Given the description of an element on the screen output the (x, y) to click on. 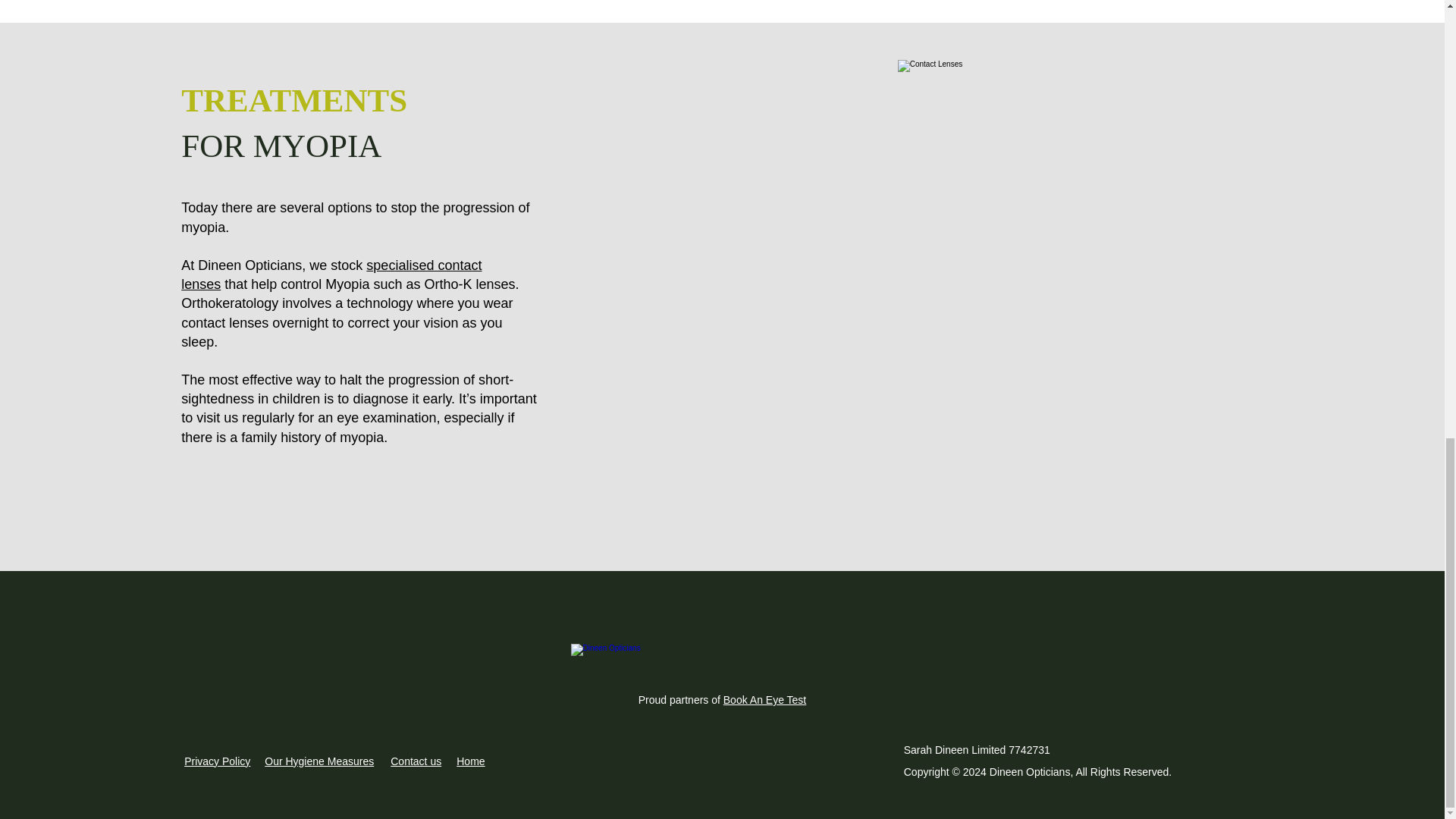
specialised contact lenses (330, 274)
Home (470, 761)
Contact us (415, 761)
Our Hygiene Measures (319, 761)
Privacy Policy (217, 761)
Book An Eye Test (764, 699)
